Given the description of an element on the screen output the (x, y) to click on. 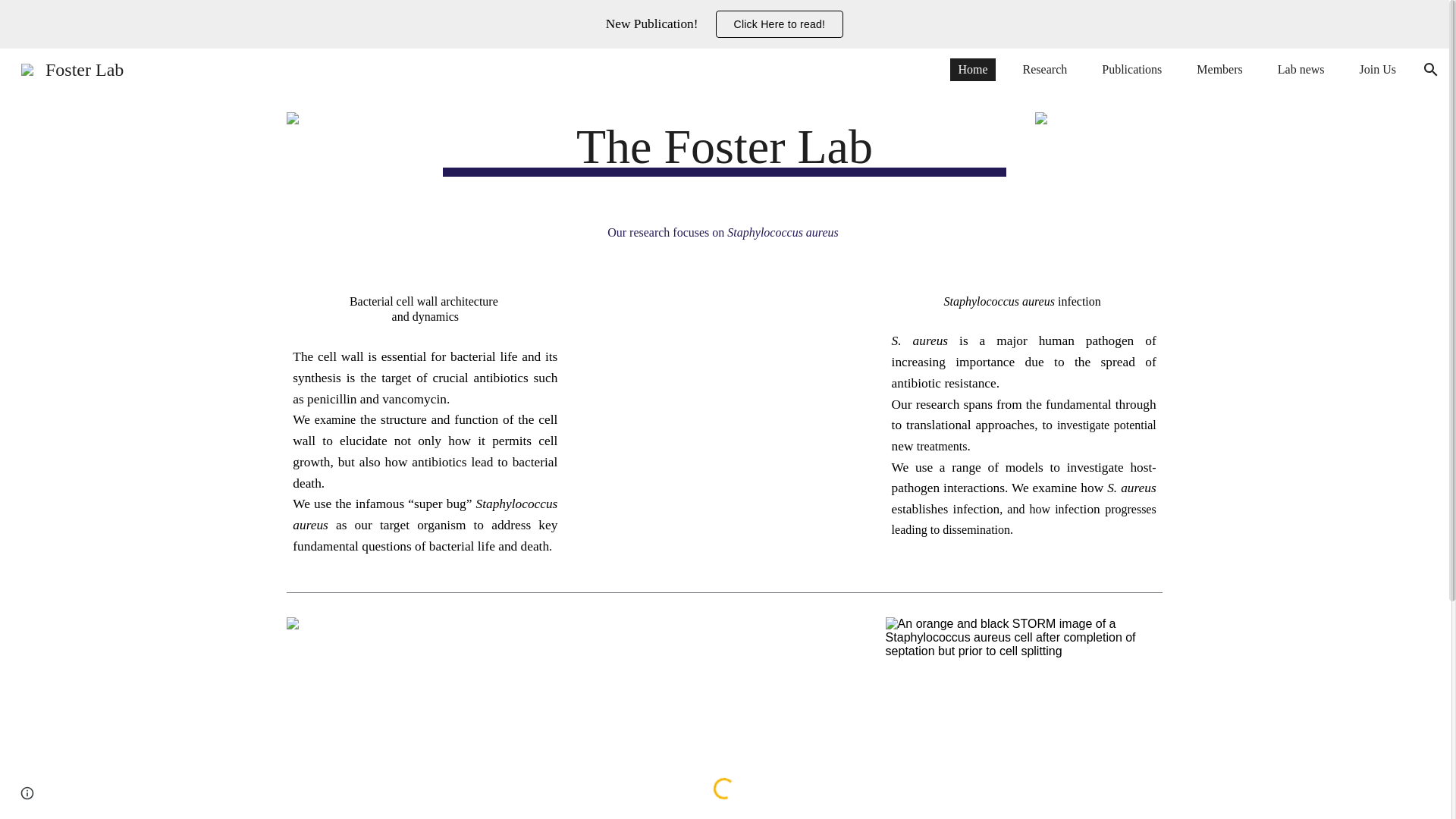
Research (1044, 69)
Lab news (1300, 69)
Click Here to read! (779, 23)
Foster Lab (71, 67)
Join Us (1377, 69)
Publications (1131, 69)
Click Here to read! (780, 23)
Home (972, 69)
Members (1219, 69)
Custom embed (724, 718)
